Given the description of an element on the screen output the (x, y) to click on. 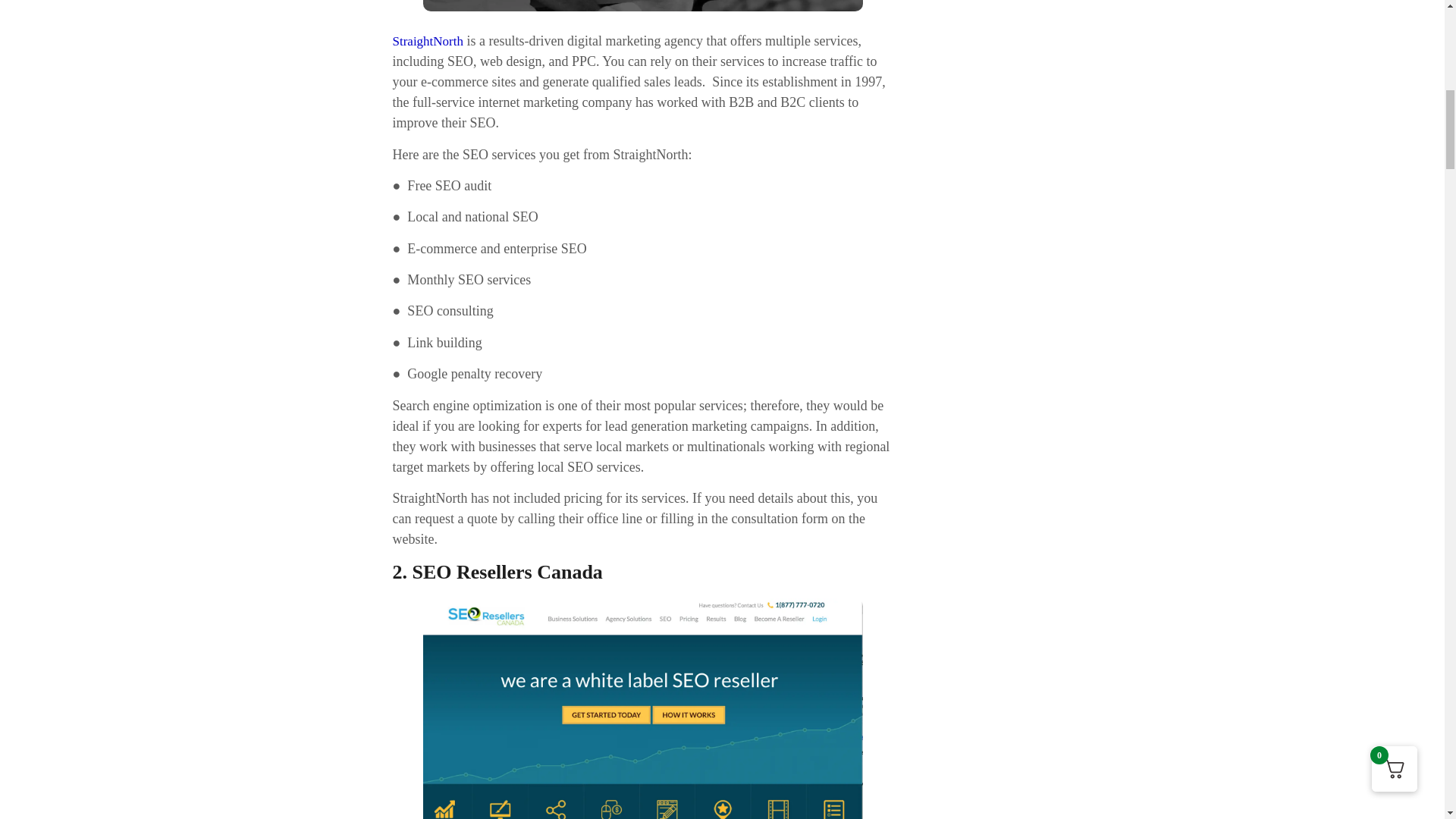
Best SEO Agencies in Kelowna 2 (643, 708)
Best SEO Agencies in Kelowna 1 (643, 5)
